Given the description of an element on the screen output the (x, y) to click on. 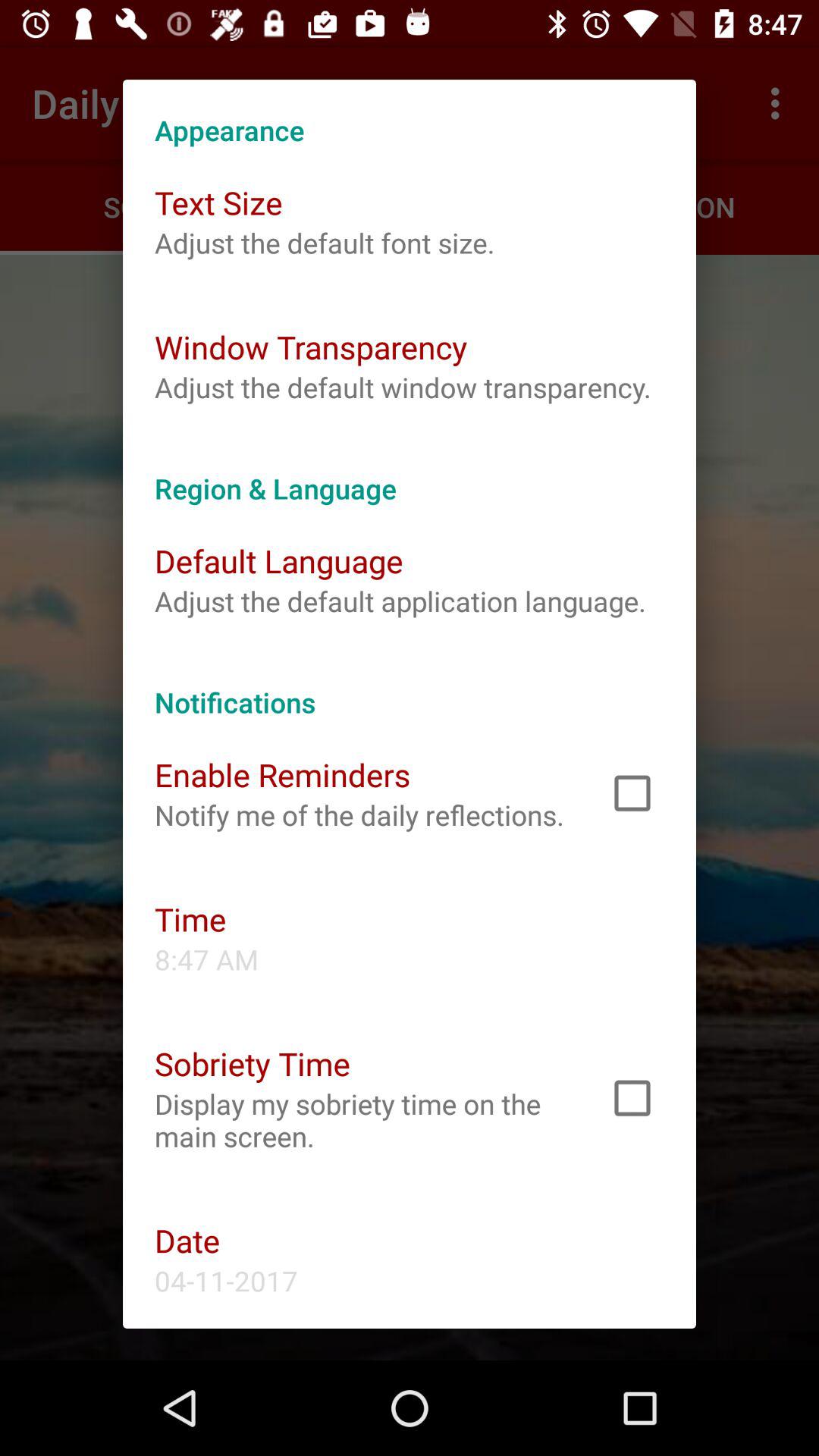
turn on the icon below notifications (282, 774)
